Given the description of an element on the screen output the (x, y) to click on. 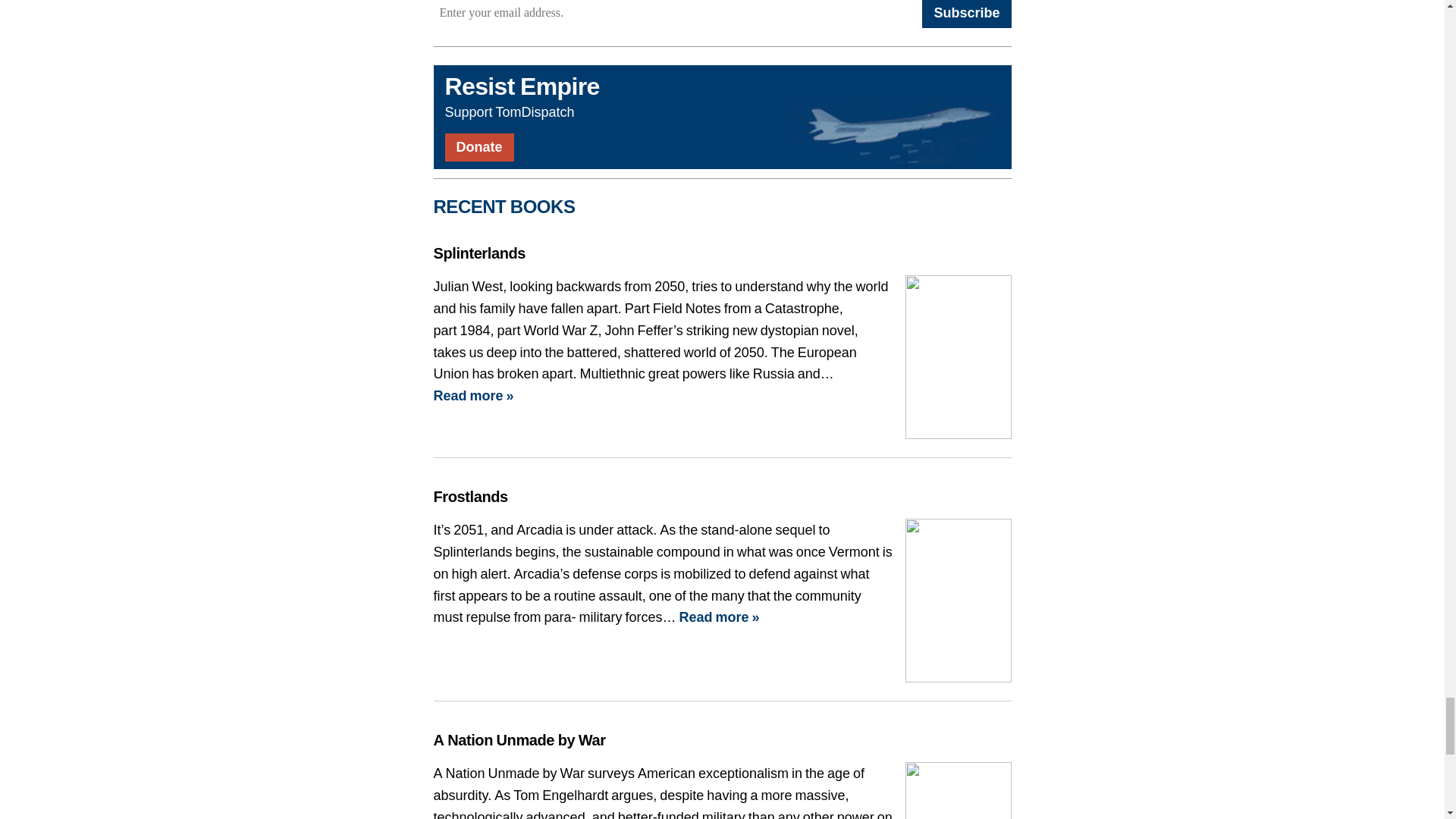
Subscribe (965, 13)
